Given the description of an element on the screen output the (x, y) to click on. 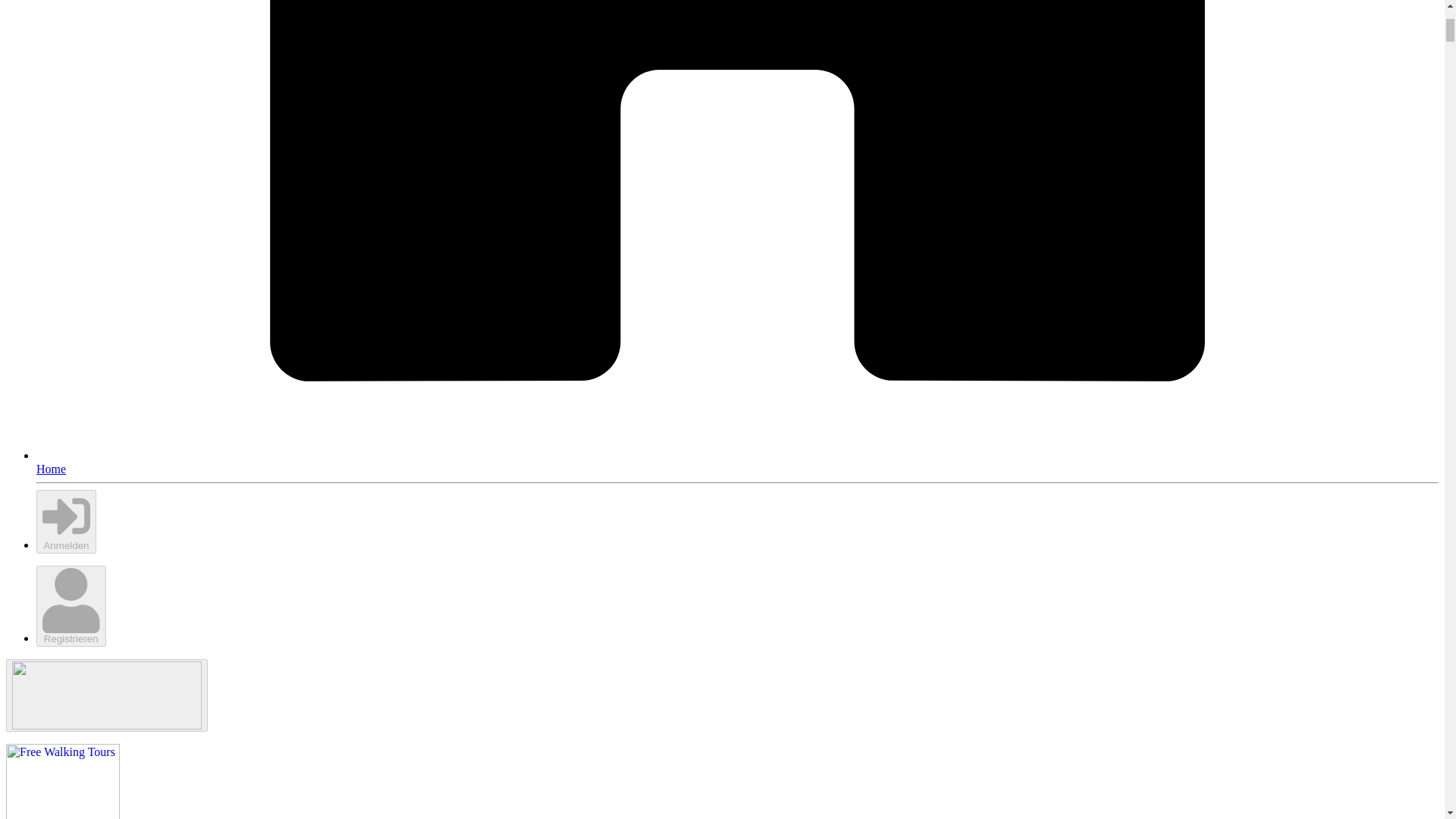
Anmelden (66, 521)
Home (737, 461)
